Given the description of an element on the screen output the (x, y) to click on. 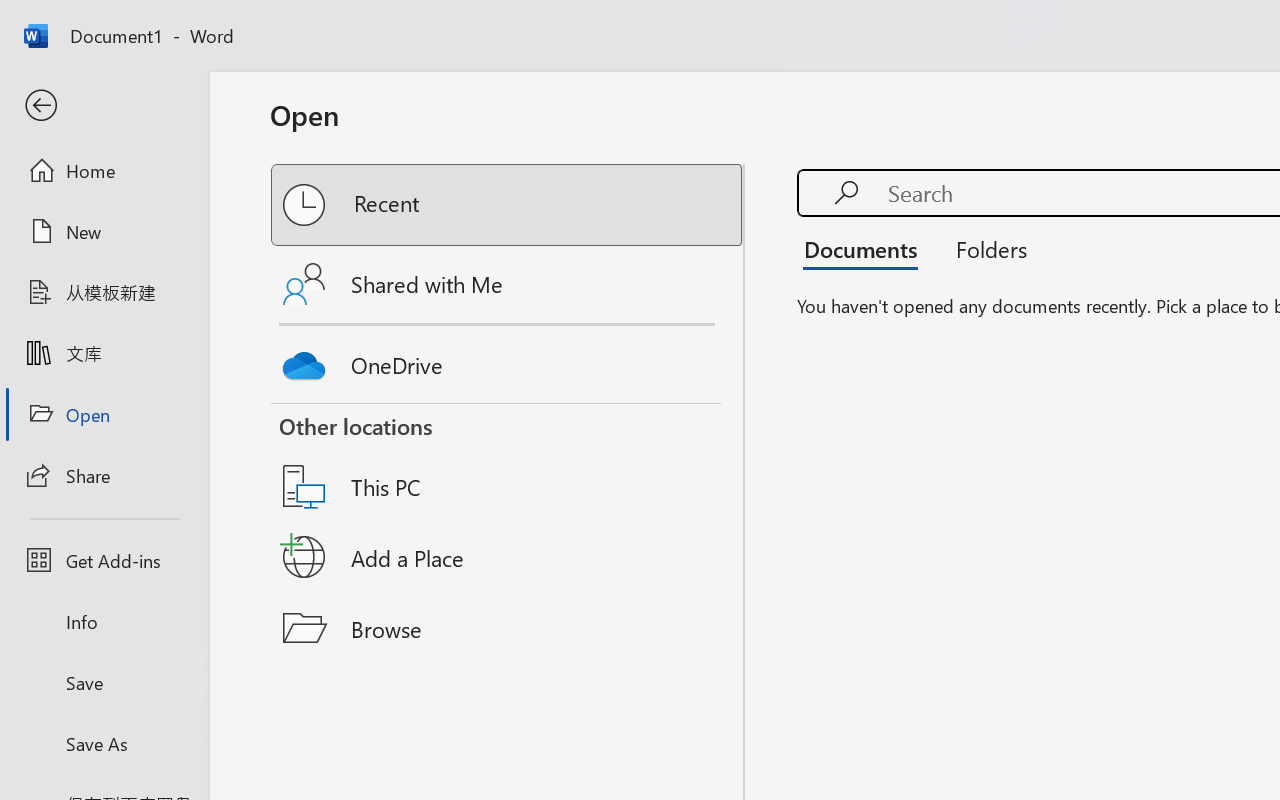
Folders (984, 248)
OneDrive (507, 359)
Shared with Me (507, 283)
Add a Place (507, 557)
This PC (507, 461)
Documents (866, 248)
Recent (507, 205)
Info (104, 621)
Back (104, 106)
